Given the description of an element on the screen output the (x, y) to click on. 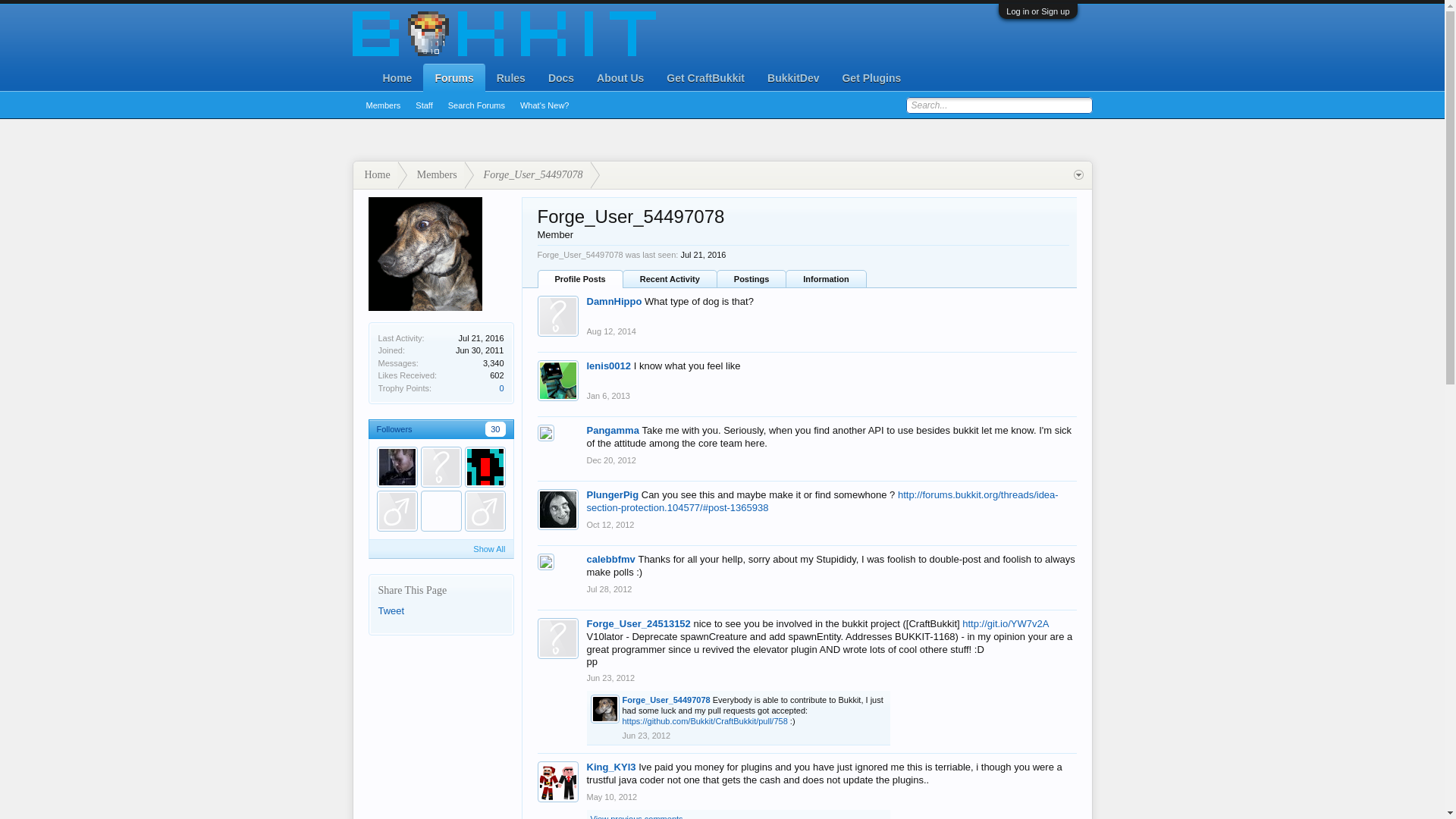
Jul 28, 2012 (608, 588)
Jul 21, 2016 at 2:46 AM (480, 338)
Jan 6, 2013 (608, 395)
Oct 12, 2012 at 1:00 AM (610, 524)
Jun 23, 2012 at 11:40 AM (610, 677)
Permalink (608, 588)
calebbfmv (610, 559)
Information (826, 279)
Aug 12, 2014 (611, 330)
tokenfire (395, 510)
Permalink (611, 460)
Profile Posts (580, 279)
Recent Activity (670, 279)
lenis0012 (608, 365)
Killfrog47 (484, 466)
